Given the description of an element on the screen output the (x, y) to click on. 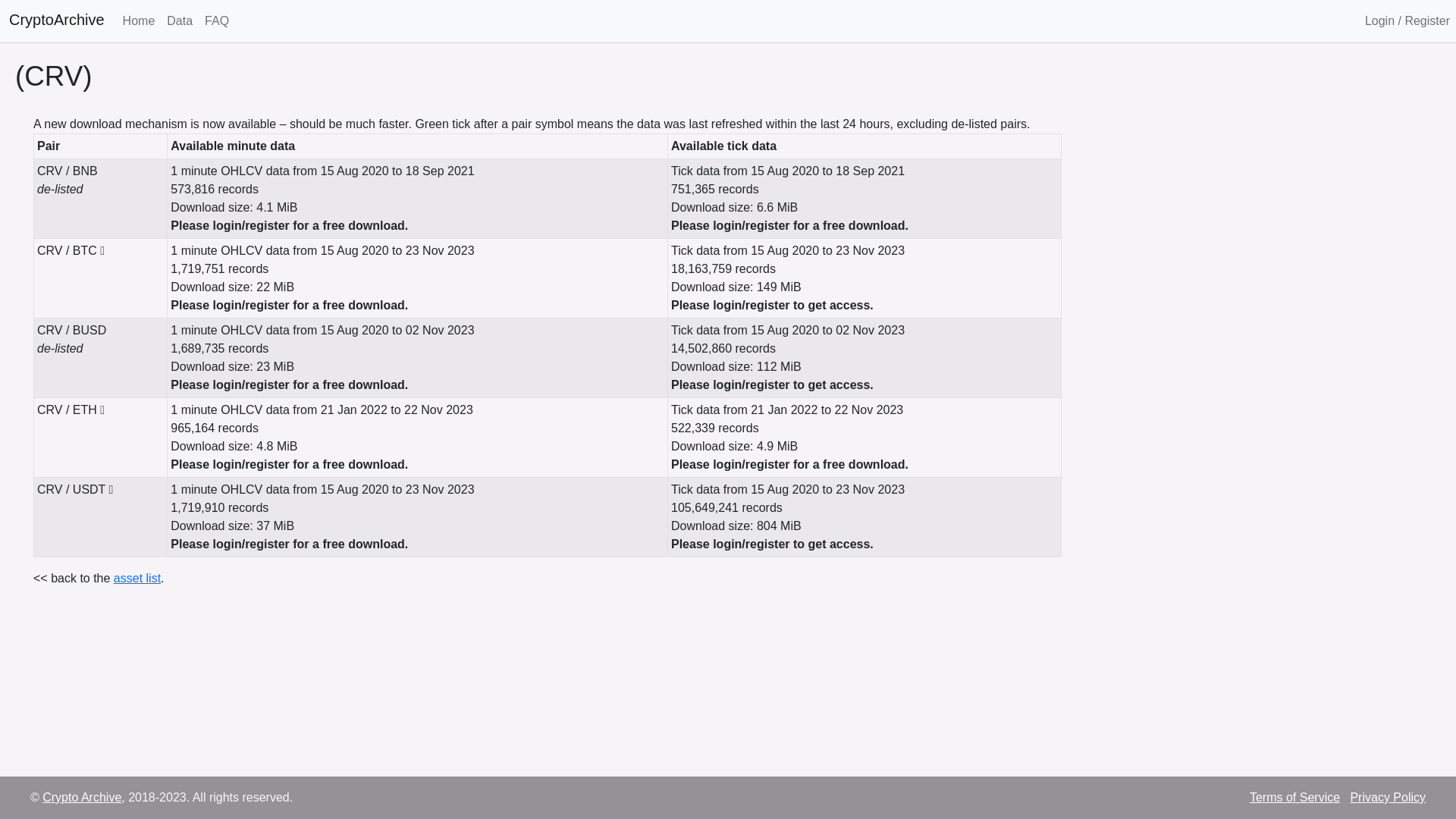
Home Element type: text (138, 21)
asset list Element type: text (136, 577)
Data Element type: text (179, 21)
Privacy Policy Element type: text (1387, 796)
FAQ Element type: text (216, 21)
Terms of Service Element type: text (1294, 796)
Crypto Archive Element type: text (81, 796)
